Given the description of an element on the screen output the (x, y) to click on. 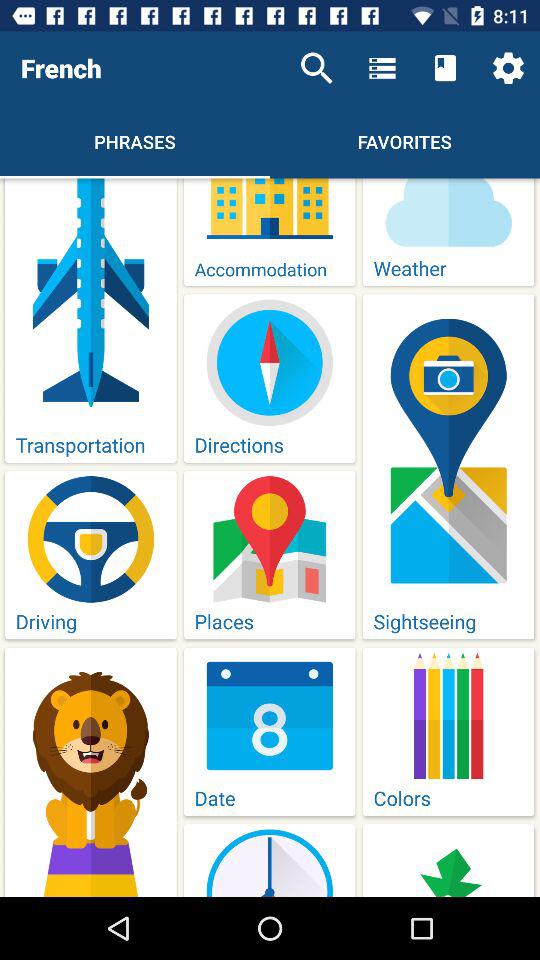
tap the icon above the favorites (444, 67)
